Given the description of an element on the screen output the (x, y) to click on. 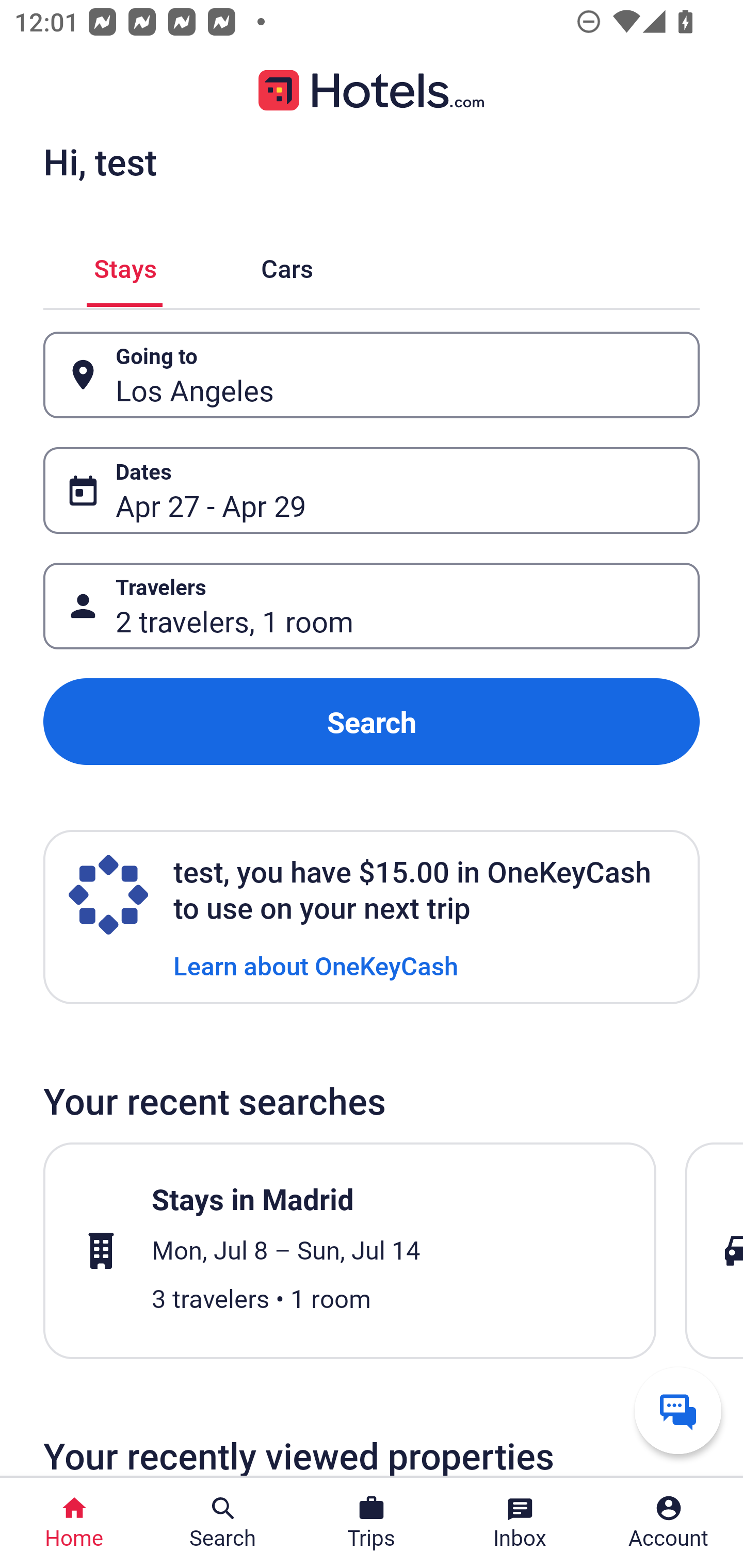
Hi, test (99, 161)
Cars (286, 265)
Going to Button Los Angeles (371, 375)
Dates Button Apr 27 - Apr 29 (371, 489)
Travelers Button 2 travelers, 1 room (371, 605)
Search (371, 721)
Learn about OneKeyCash Learn about OneKeyCash Link (315, 964)
Get help from a virtual agent (677, 1410)
Search Search Button (222, 1522)
Trips Trips Button (371, 1522)
Inbox Inbox Button (519, 1522)
Account Profile. Button (668, 1522)
